Given the description of an element on the screen output the (x, y) to click on. 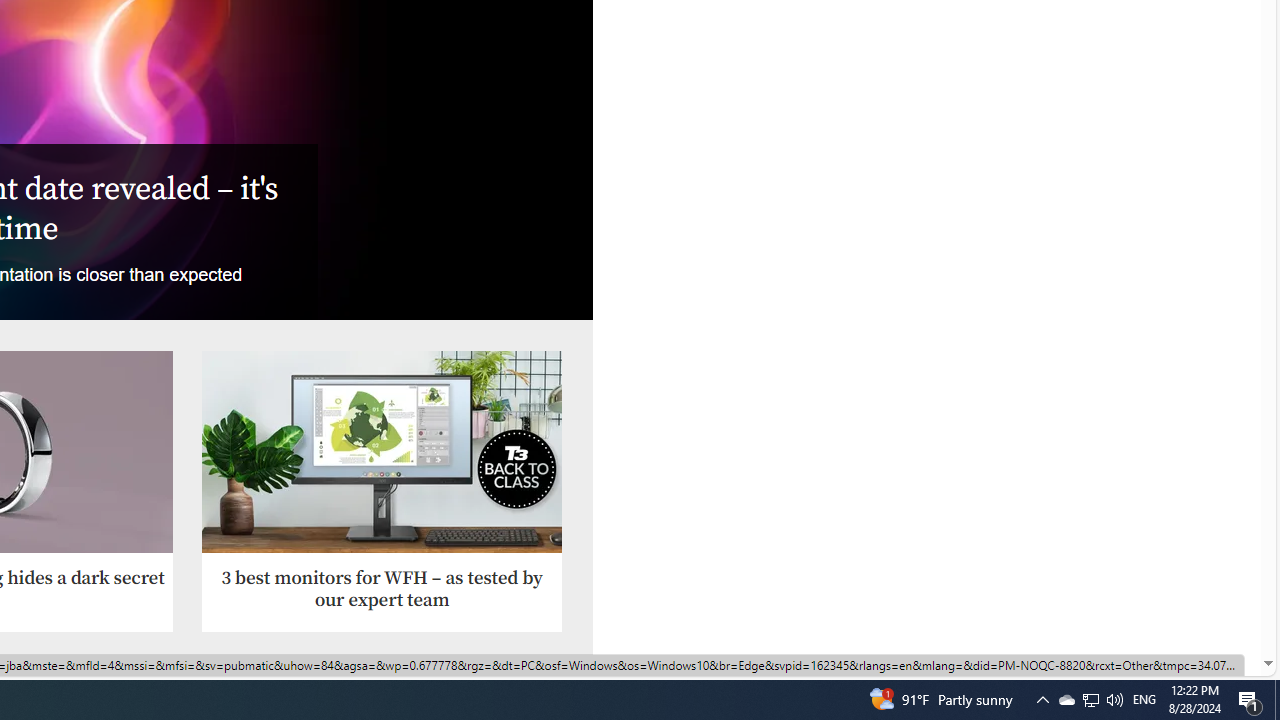
AOC U27P2CA (382, 452)
